Given the description of an element on the screen output the (x, y) to click on. 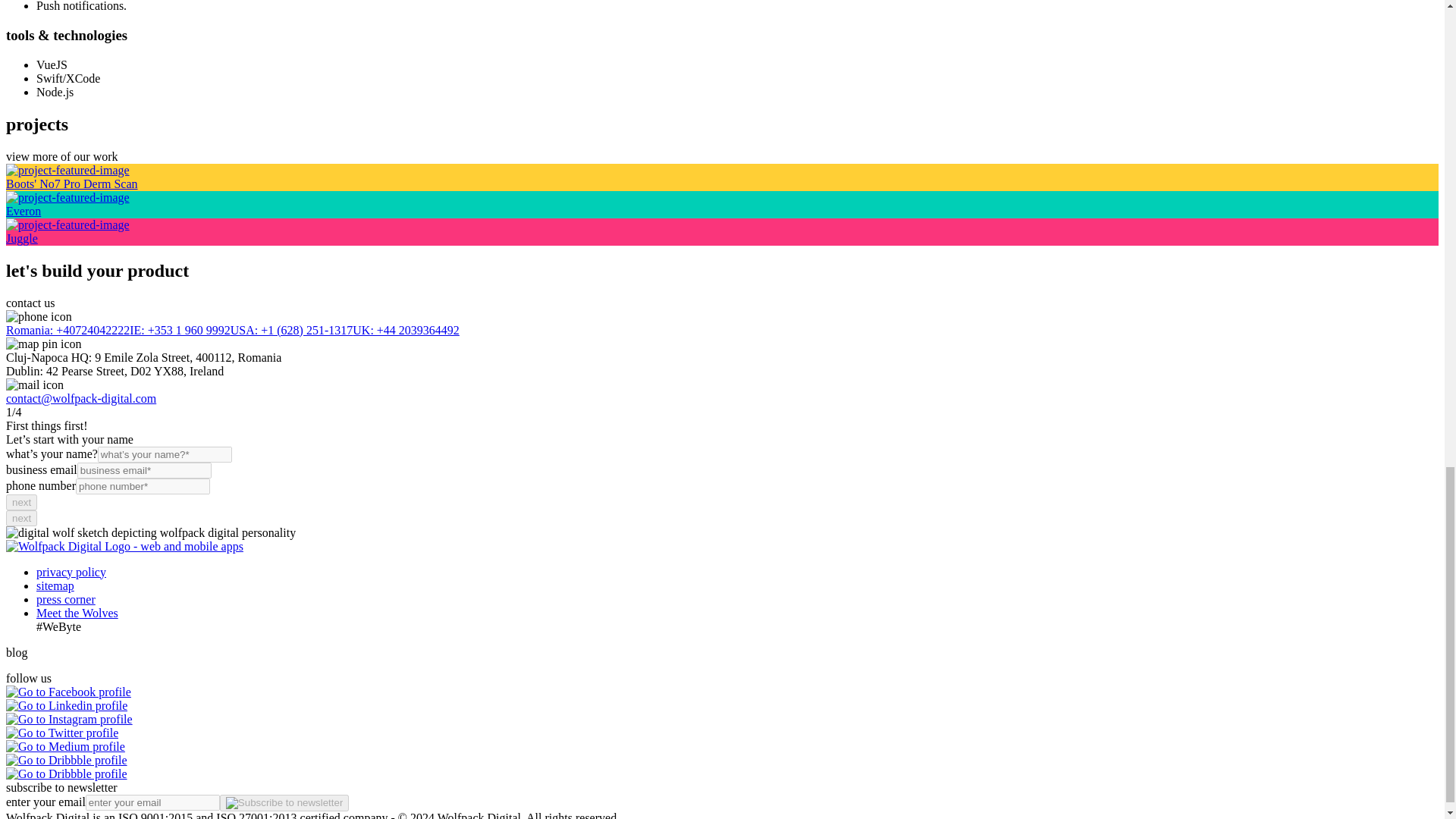
sitemap (55, 584)
next (21, 518)
Meet the Wolves (76, 612)
press corner (66, 598)
next (21, 501)
privacy policy (71, 571)
